Given the description of an element on the screen output the (x, y) to click on. 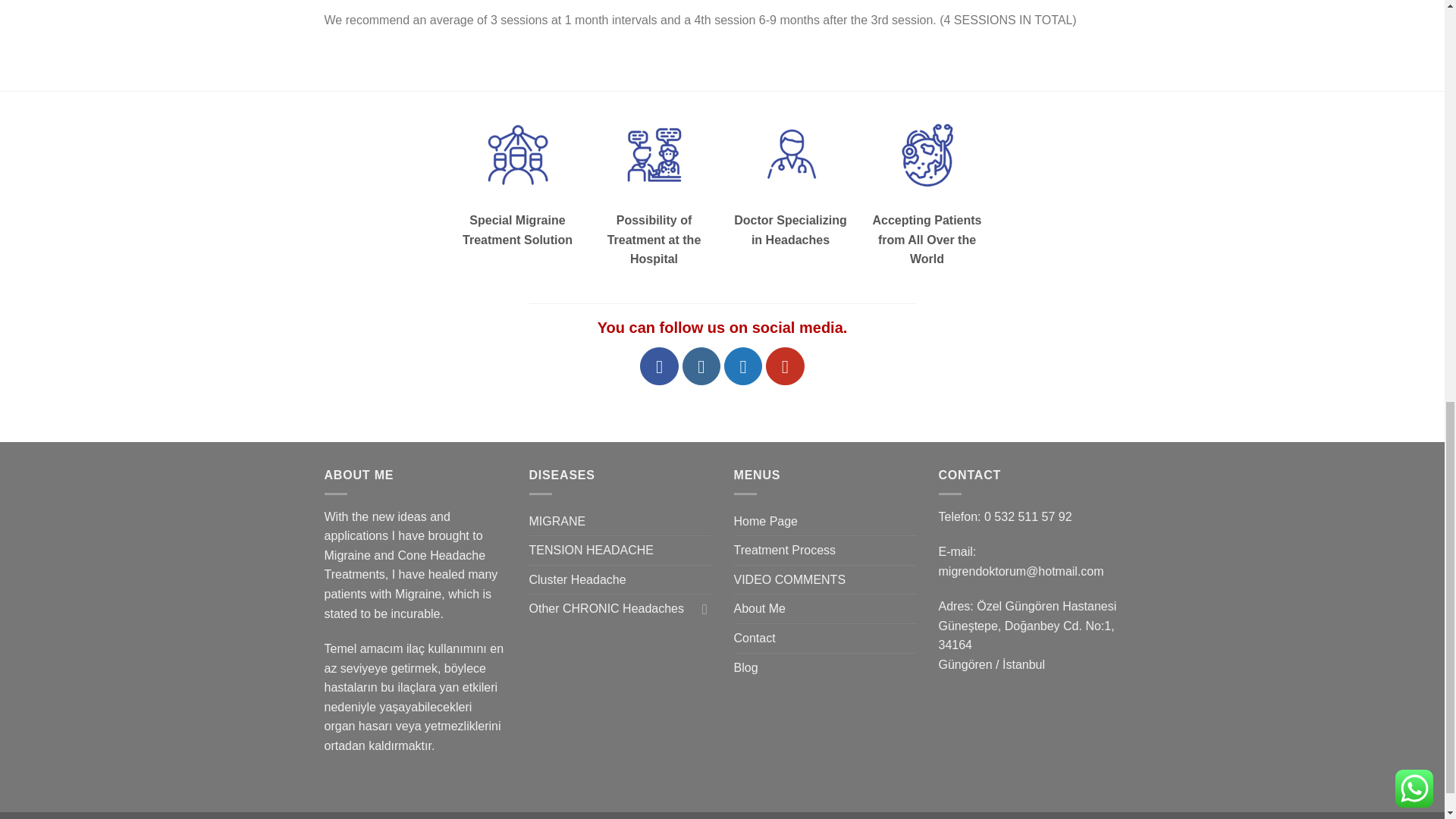
Other CHRONIC Headaches (612, 608)
Instagram' da Takip Edin (701, 365)
Youtube' ta Takip Edin (784, 365)
Twitter' da Takip Edin (742, 365)
TENSION HEADACHE (591, 550)
Cluster Headache (577, 579)
Facebook' ta Takip Edin (659, 365)
MIGRANE (557, 521)
